Given the description of an element on the screen output the (x, y) to click on. 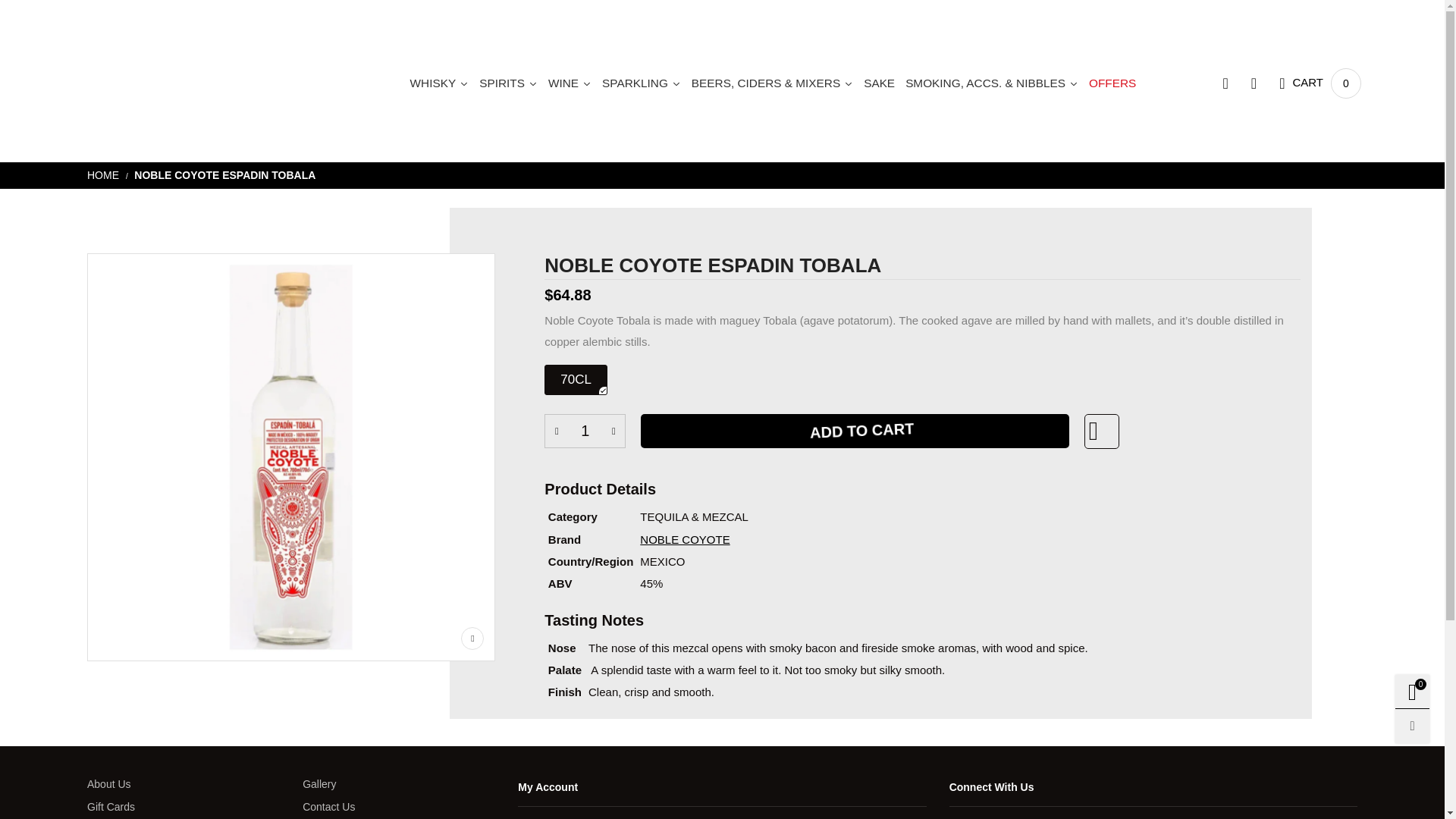
1 (584, 430)
WHISKY (439, 83)
OFFERS (1112, 83)
WINE (569, 83)
WHISKY (439, 83)
Sign In (1209, 315)
SPIRITS (508, 83)
SPARKLING (640, 83)
SPIRITS (508, 83)
OFFERS (1112, 83)
